Given the description of an element on the screen output the (x, y) to click on. 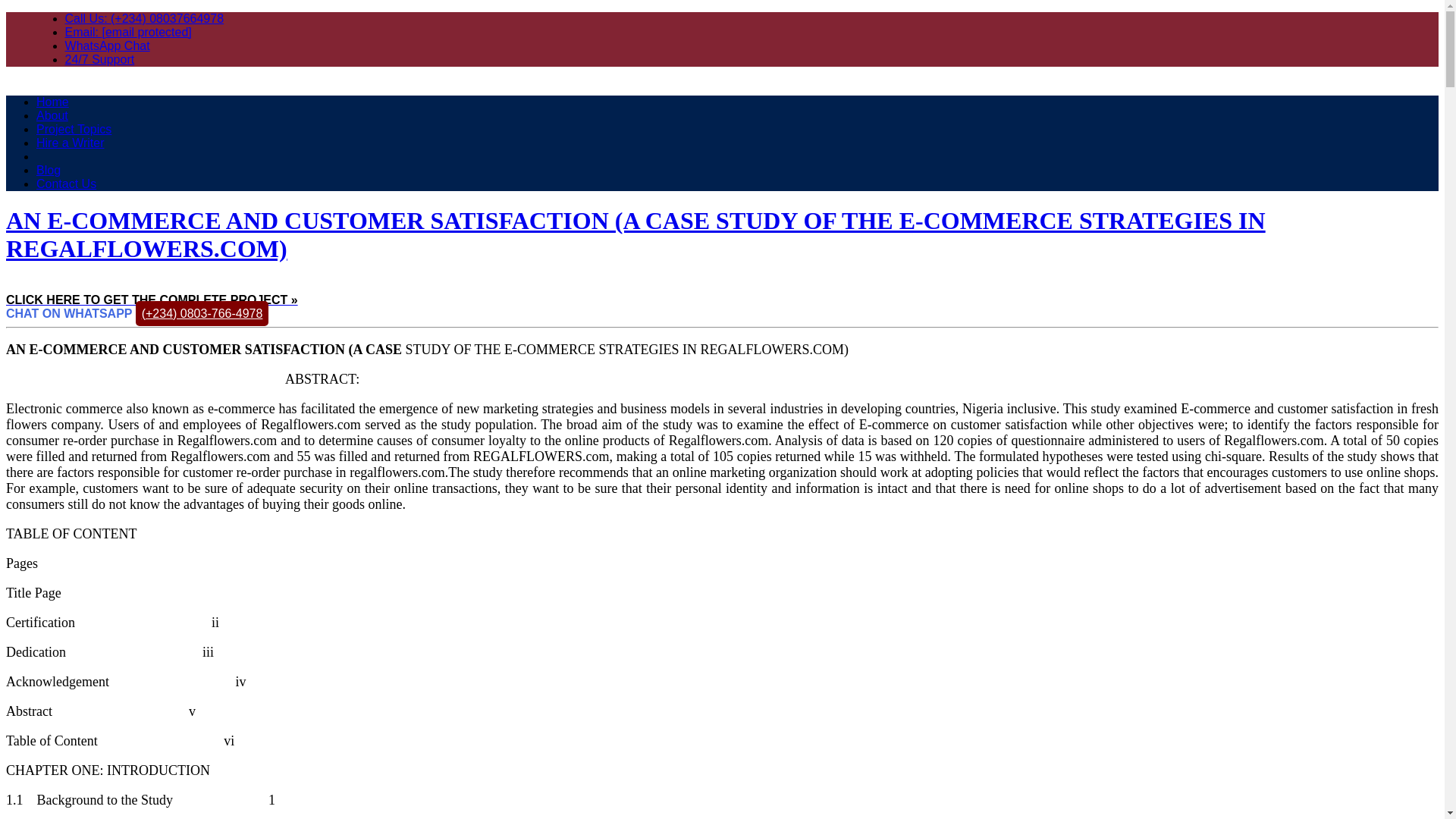
About (52, 115)
Project Topics (74, 128)
Home (52, 101)
WhatsApp Chat (107, 45)
Hire a Writer (70, 142)
Contact Us (66, 183)
Blog (48, 169)
